Given the description of an element on the screen output the (x, y) to click on. 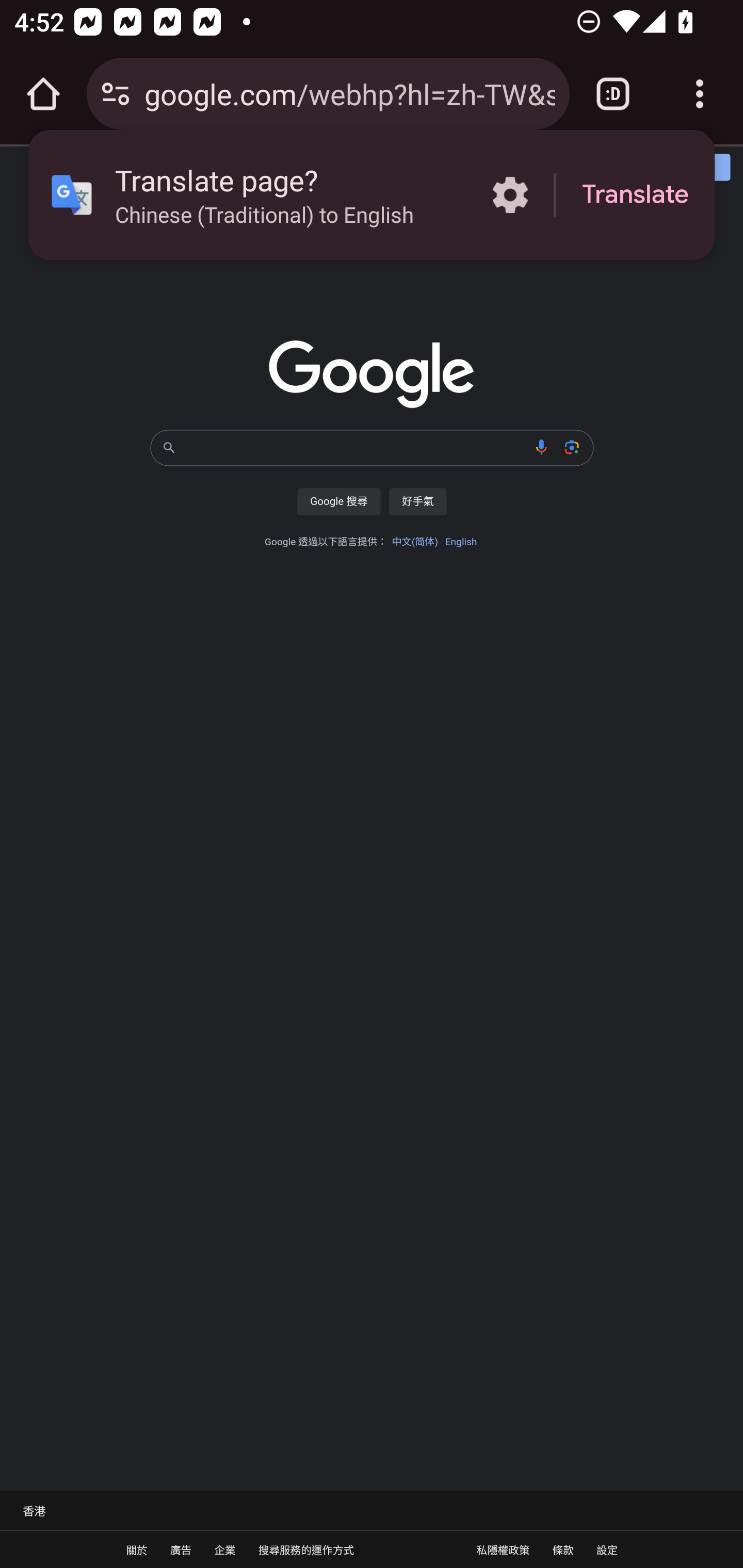
Open the home page (43, 93)
Connection is secure (115, 93)
Switch or close tabs (612, 93)
Customize and control Google Chrome (699, 93)
Translate (634, 195)
More options in the Translate page? (509, 195)
語音搜尋 (541, 446)
以圖搜尋 (571, 446)
Google 搜尋 (338, 501)
好手氣 (417, 501)
中文(简体) (414, 541)
English (460, 541)
關於 (136, 1549)
廣告 (180, 1549)
企業 (224, 1549)
搜尋服務的運作方式 (305, 1549)
私隱權政策 (502, 1549)
條款 (562, 1549)
設定 (606, 1549)
